Given the description of an element on the screen output the (x, y) to click on. 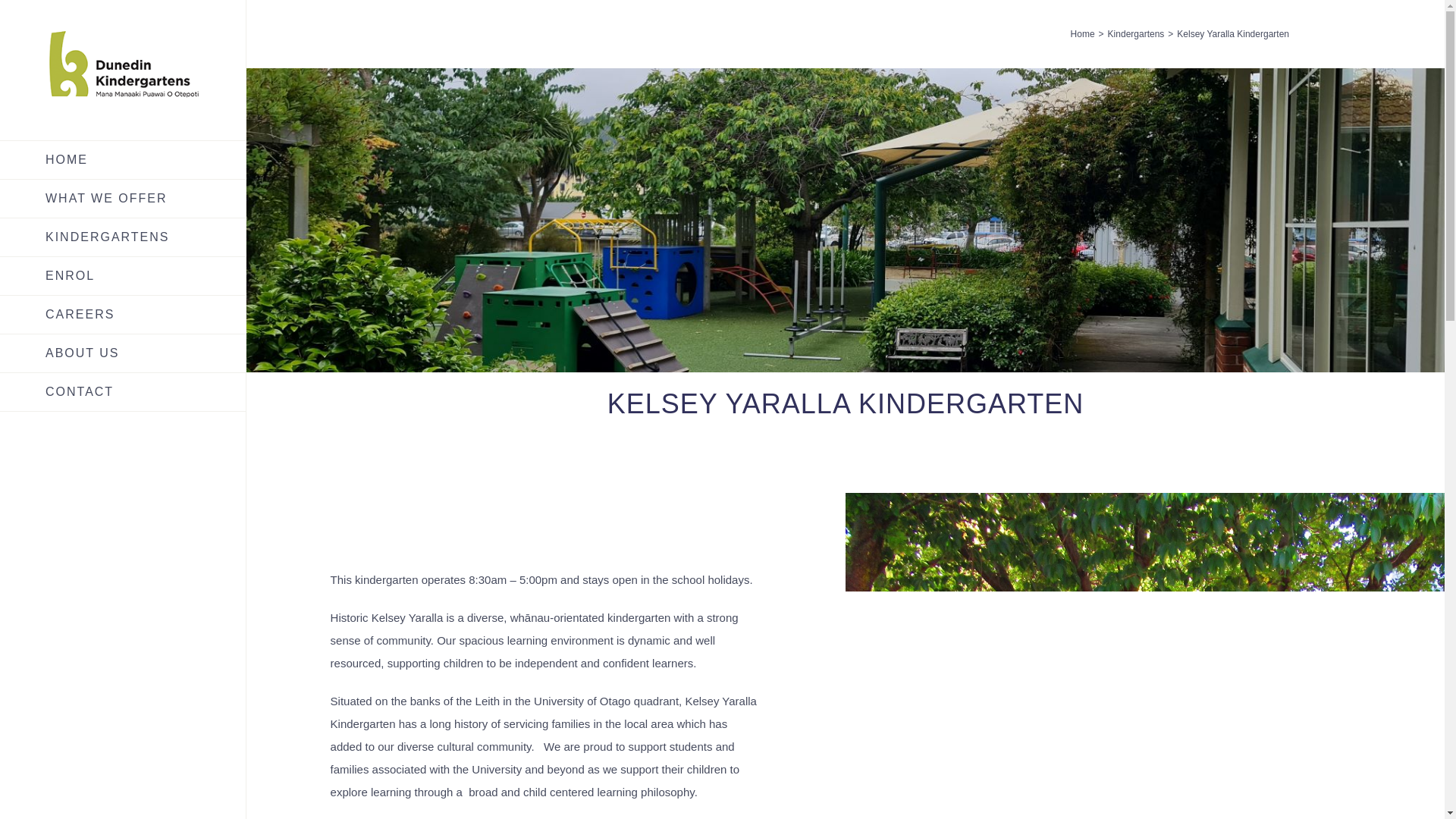
Home (1082, 33)
CAREERS (123, 314)
HOME (123, 159)
ABOUT US (123, 353)
KINDERGARTENS (123, 237)
Kindergartens (1136, 33)
WHAT WE OFFER (123, 198)
ENROL (123, 276)
CONTACT (123, 392)
